Given the description of an element on the screen output the (x, y) to click on. 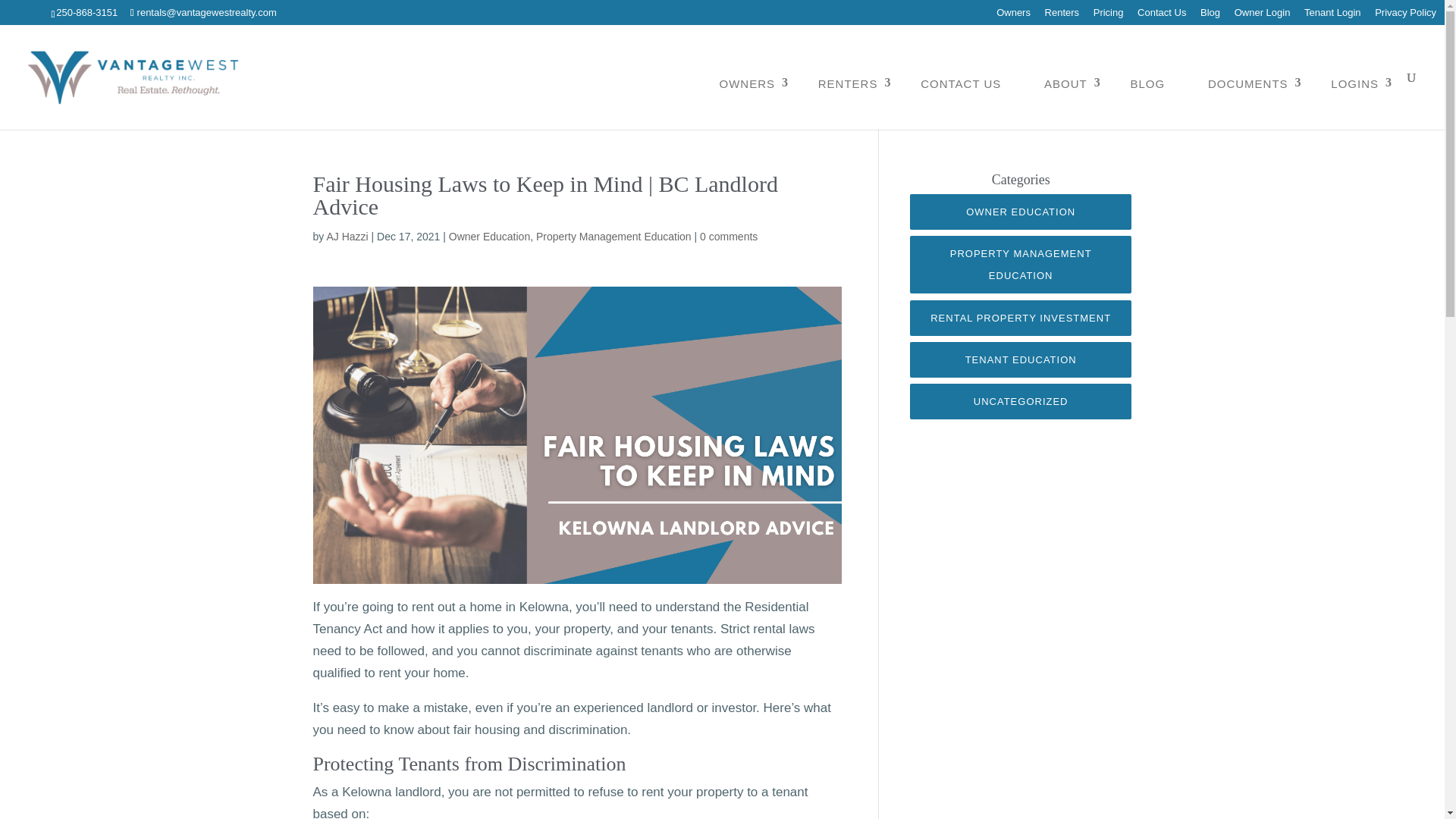
Contact Us (1161, 16)
Privacy Policy (1404, 16)
250-868-3151 (86, 12)
Posts by AJ Hazzi (347, 236)
Owners (1012, 16)
CONTACT US (960, 84)
OWNERS (747, 84)
ABOUT (1065, 84)
Owner Login (1262, 16)
Renters (1062, 16)
RENTERS (847, 84)
Tenant Login (1331, 16)
DOCUMENTS (1248, 84)
Blog (1209, 16)
LOGINS (1354, 84)
